Given the description of an element on the screen output the (x, y) to click on. 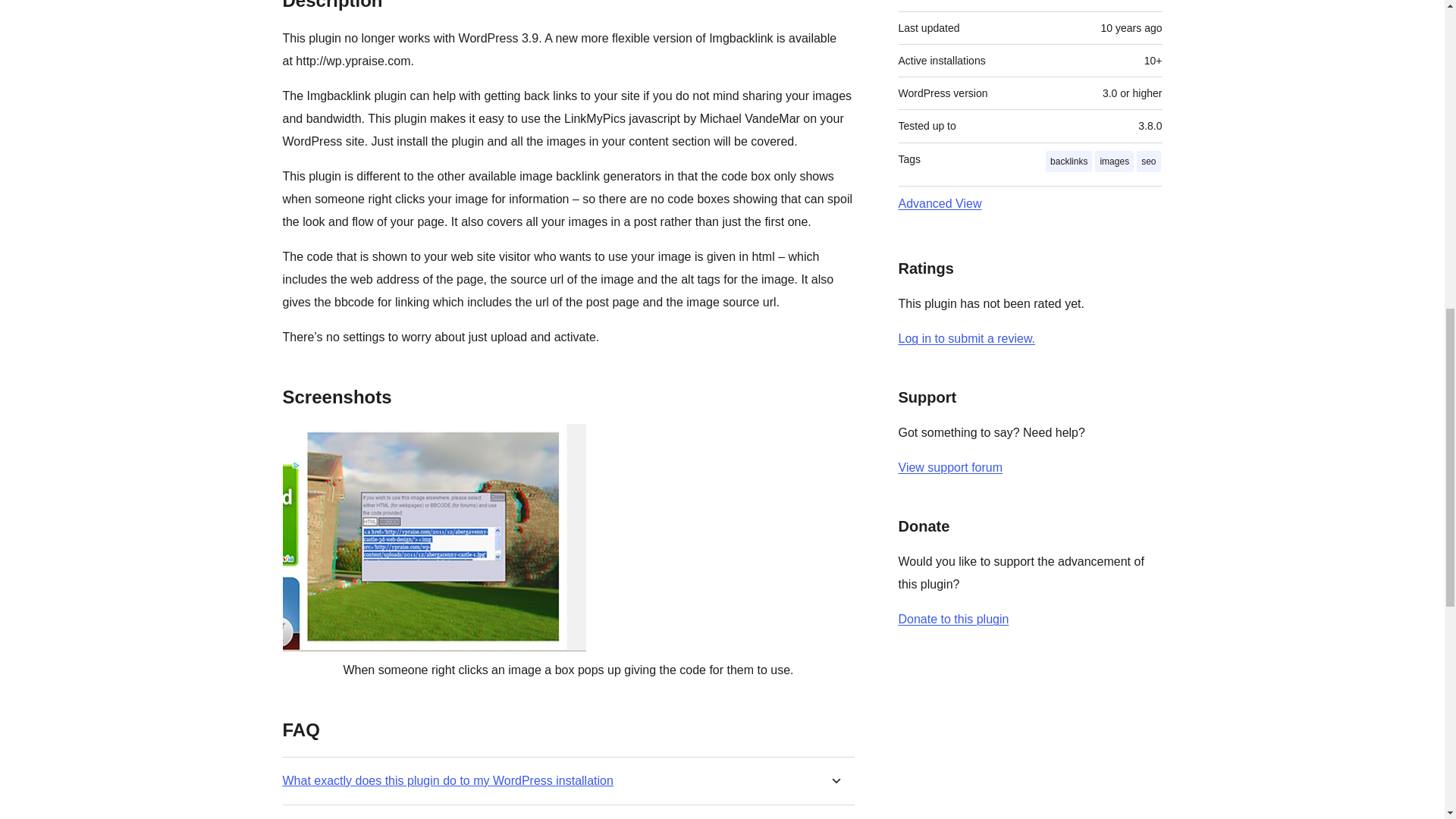
Log in to WordPress.org (966, 338)
